Given the description of an element on the screen output the (x, y) to click on. 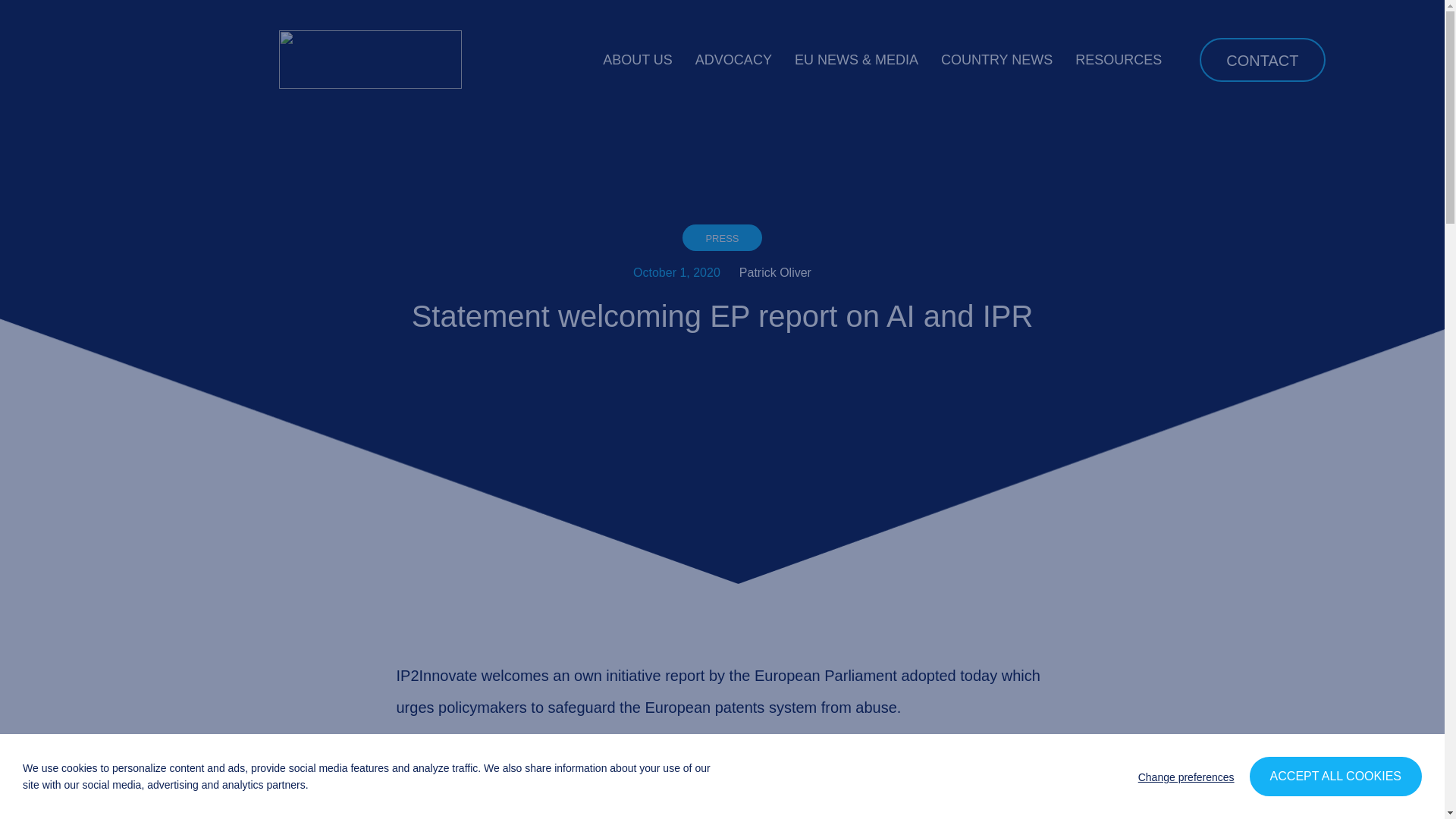
COUNTRY NEWS (996, 59)
CONTACT (1261, 59)
ADVOCACY (733, 59)
RESOURCES (1118, 59)
ABOUT US (637, 59)
